Given the description of an element on the screen output the (x, y) to click on. 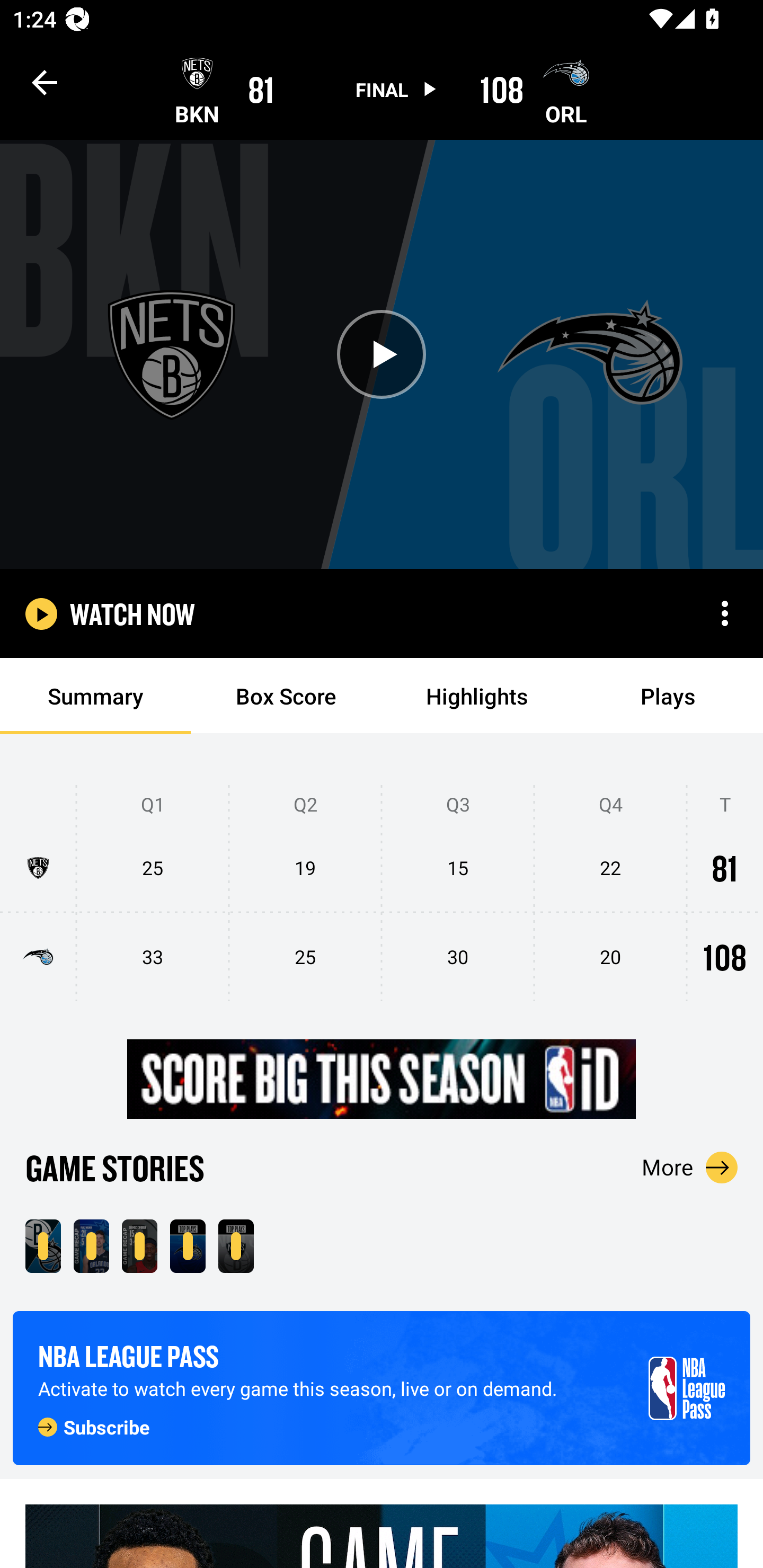
Navigate up (44, 82)
More options (724, 613)
WATCH NOW (132, 613)
Box Score (285, 695)
Highlights (476, 695)
Plays (667, 695)
Q1 Q2 Q3 Q4 T 25 19 15 22 81 33 25 30 20 108 (381, 893)
More (689, 1166)
NEW ORL 108, BKN 81 - Feb 27 (43, 1246)
NEW Highlights From Franz Wagner's 21-Point Game (91, 1246)
NEW ORL's Top Plays from BKN vs. ORL (187, 1246)
NEW BKN's Top Plays from BKN vs. ORL (236, 1246)
